Given the description of an element on the screen output the (x, y) to click on. 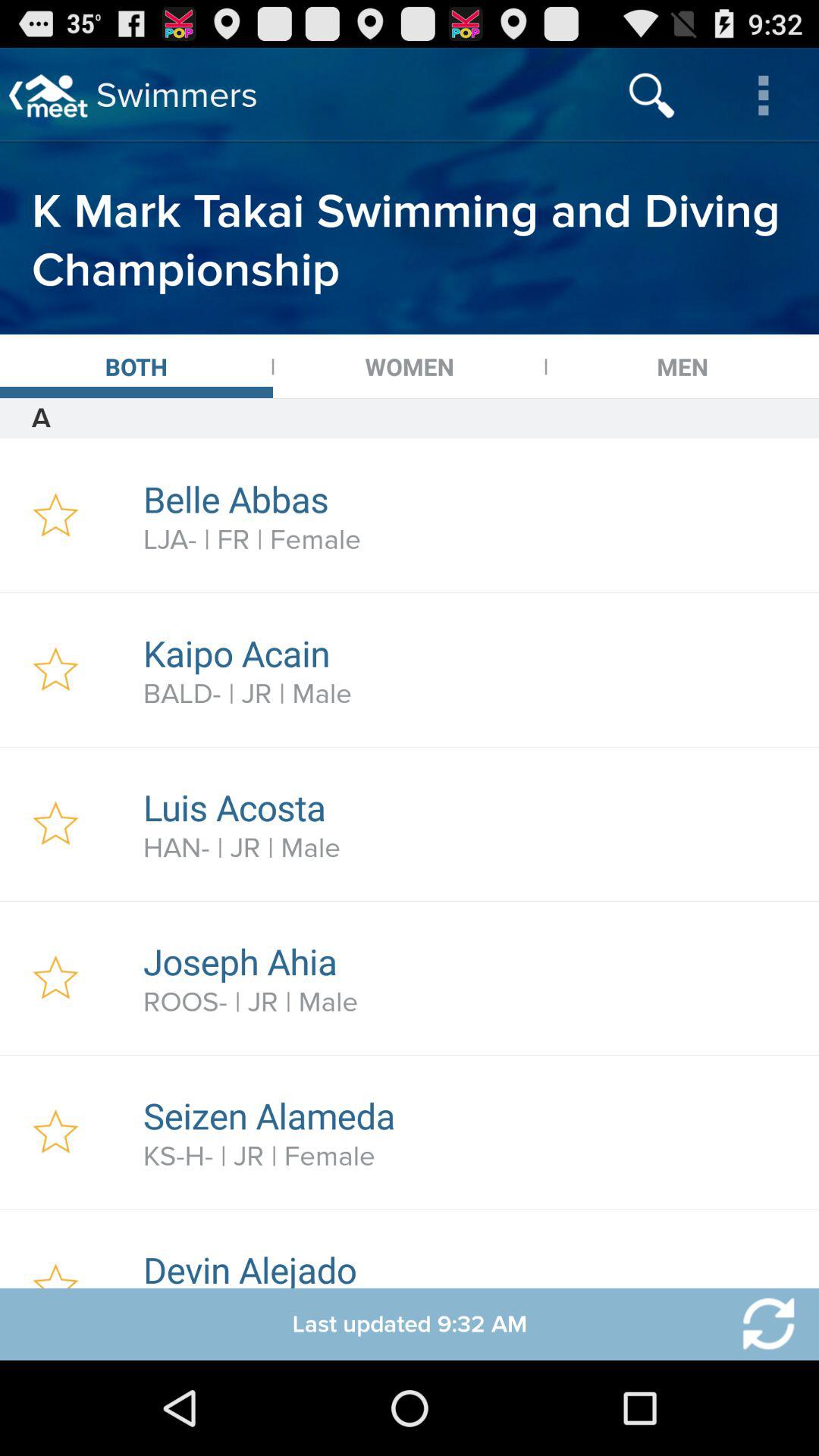
refresh (759, 1324)
